Given the description of an element on the screen output the (x, y) to click on. 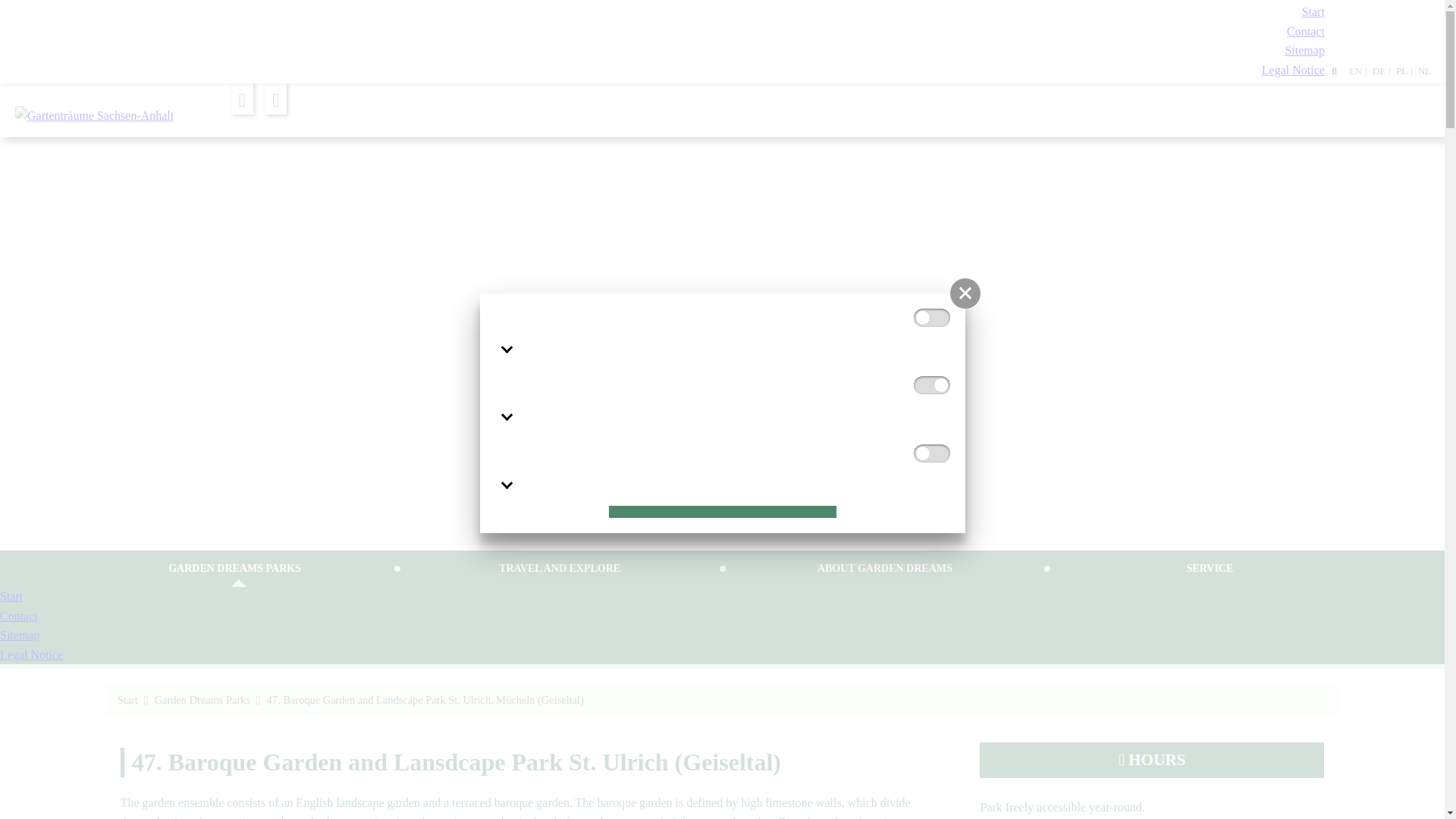
Start (1312, 11)
Start (1312, 11)
NL (1420, 71)
Sitemap (1303, 50)
nl (1420, 71)
Contact (1305, 31)
Impress (1293, 69)
PL (1398, 71)
Sitemap (1303, 50)
GARDEN DREAMS PARKS (234, 568)
